Given the description of an element on the screen output the (x, y) to click on. 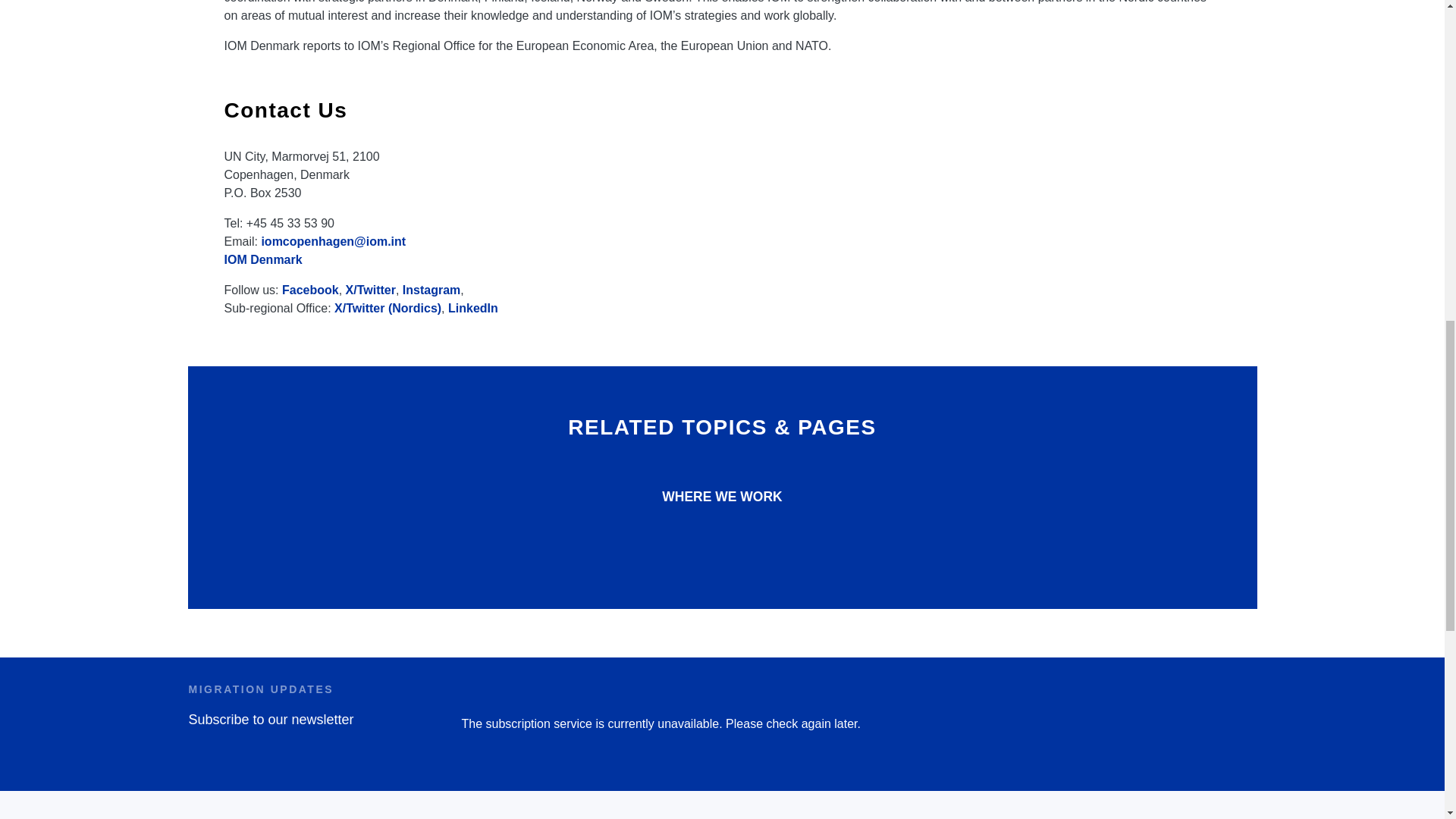
Home (341, 816)
